Given the description of an element on the screen output the (x, y) to click on. 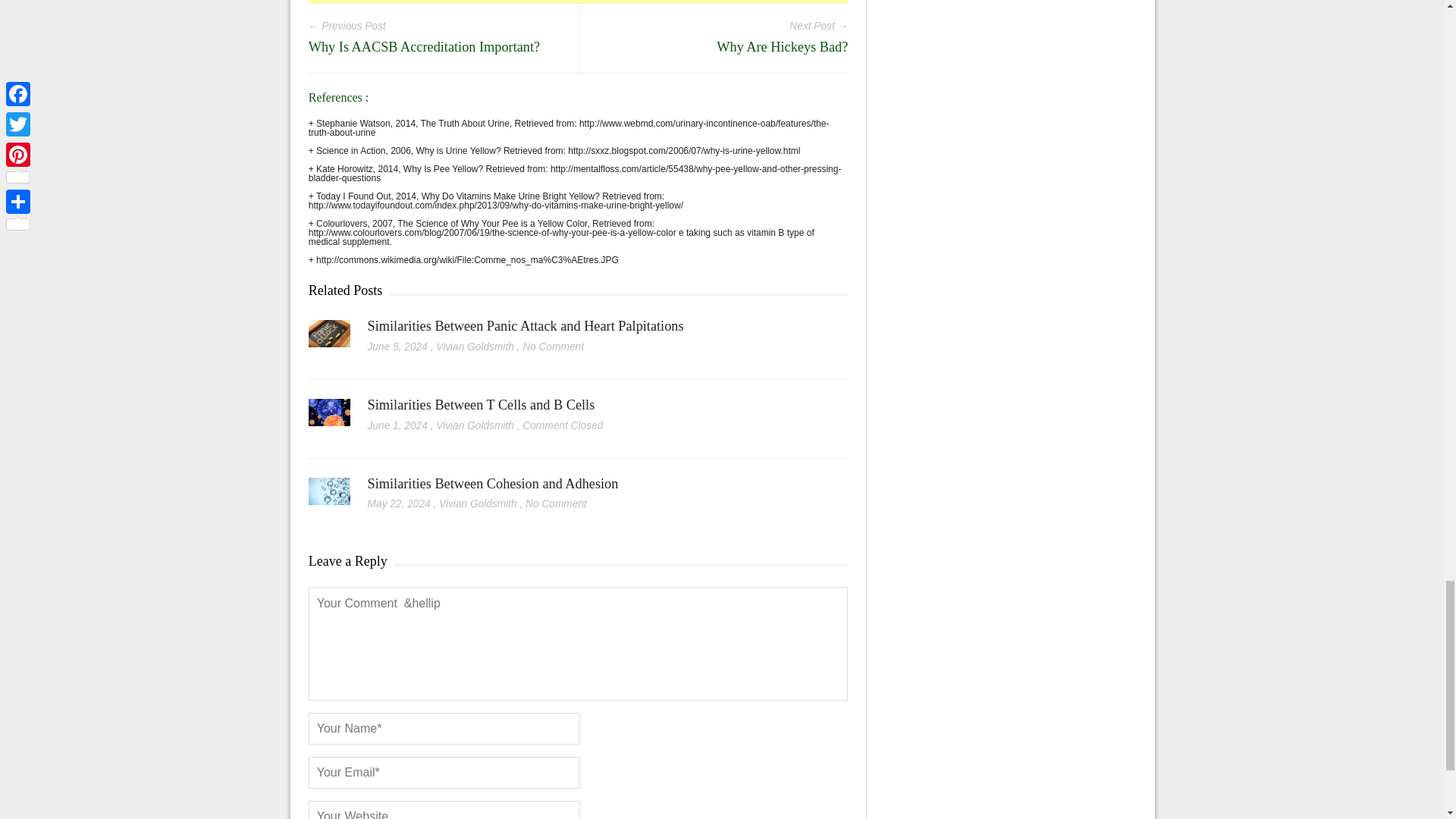
Vivian Goldsmith (474, 346)
Posts by Vivian Goldsmith (474, 346)
No Comment (552, 346)
Similarities Between T Cells and B Cells (481, 404)
Posts by Vivian Goldsmith (477, 503)
Vivian Goldsmith (477, 503)
Similarities Between T Cells and B Cells (481, 404)
Similarities Between Panic Attack and Heart Palpitations (329, 339)
Vivian Goldsmith (474, 425)
Similarities Between Cohesion and Adhesion (493, 483)
Similarities Between Cohesion and Adhesion (329, 497)
Similarities Between Cohesion and Adhesion (493, 483)
Similarities Between T Cells and B Cells (329, 417)
Posts by Vivian Goldsmith (474, 425)
